Given the description of an element on the screen output the (x, y) to click on. 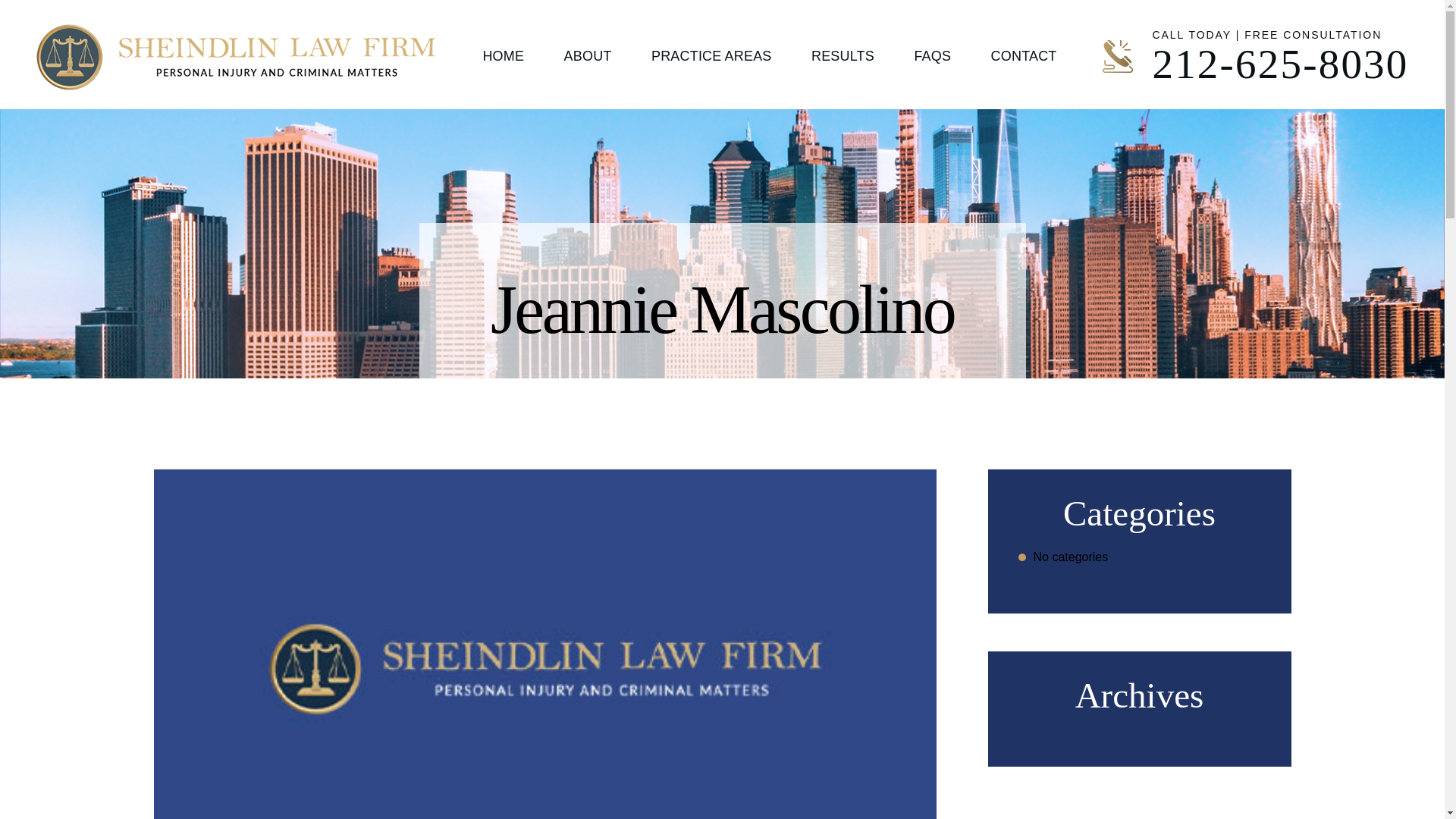
ABOUT (588, 55)
PRACTICE AREAS (711, 55)
HOME (502, 55)
